Given the description of an element on the screen output the (x, y) to click on. 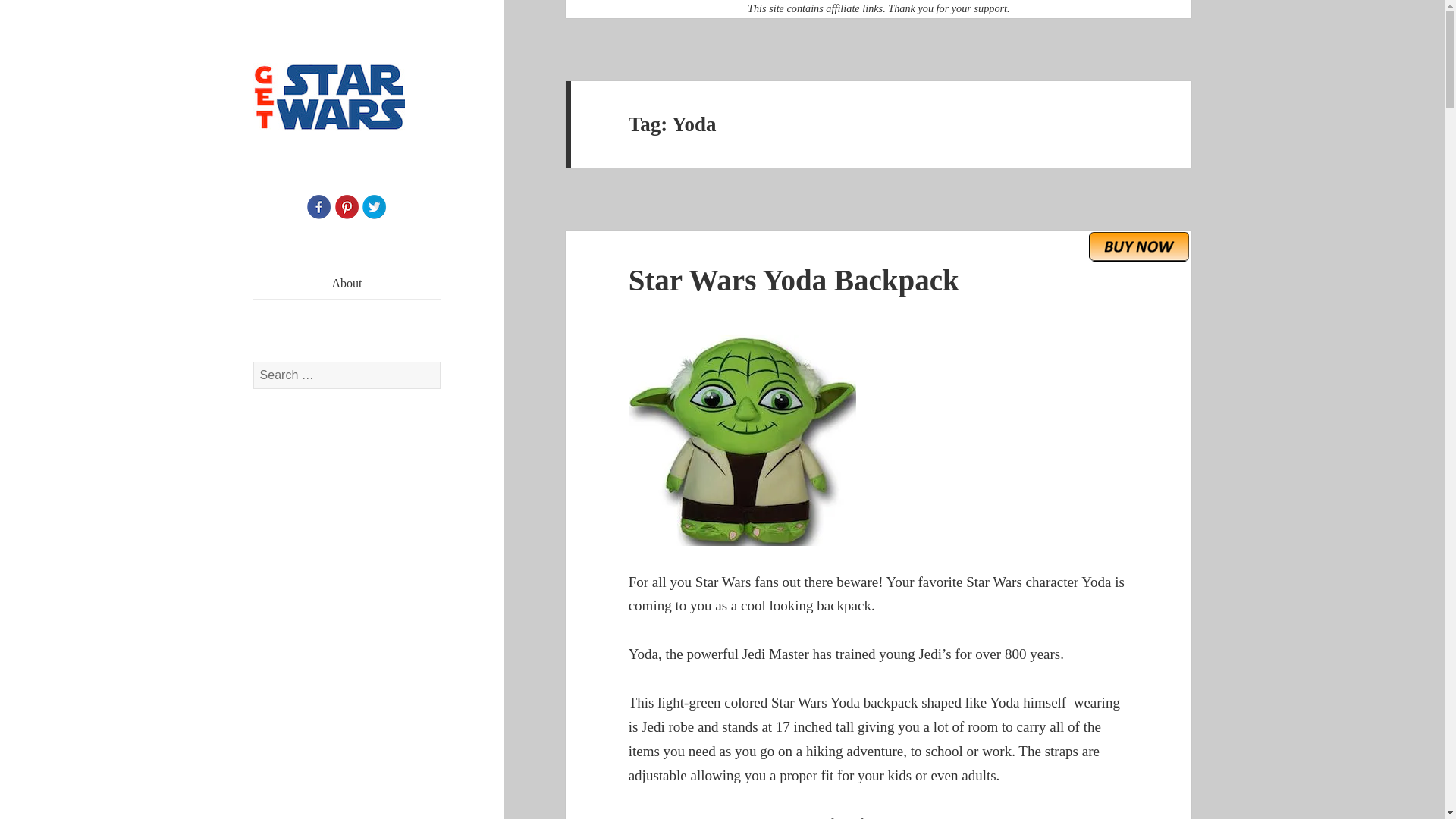
Star Wars Yoda Backpack (793, 279)
Star Wars Yoda Backpack. (1050, 817)
buy Star Wars Yoda Backpack (1139, 246)
About (347, 283)
Star Wars backpack that is shaped like master Yoda (1050, 817)
Star Wars backpack of Yoda (878, 440)
